Given the description of an element on the screen output the (x, y) to click on. 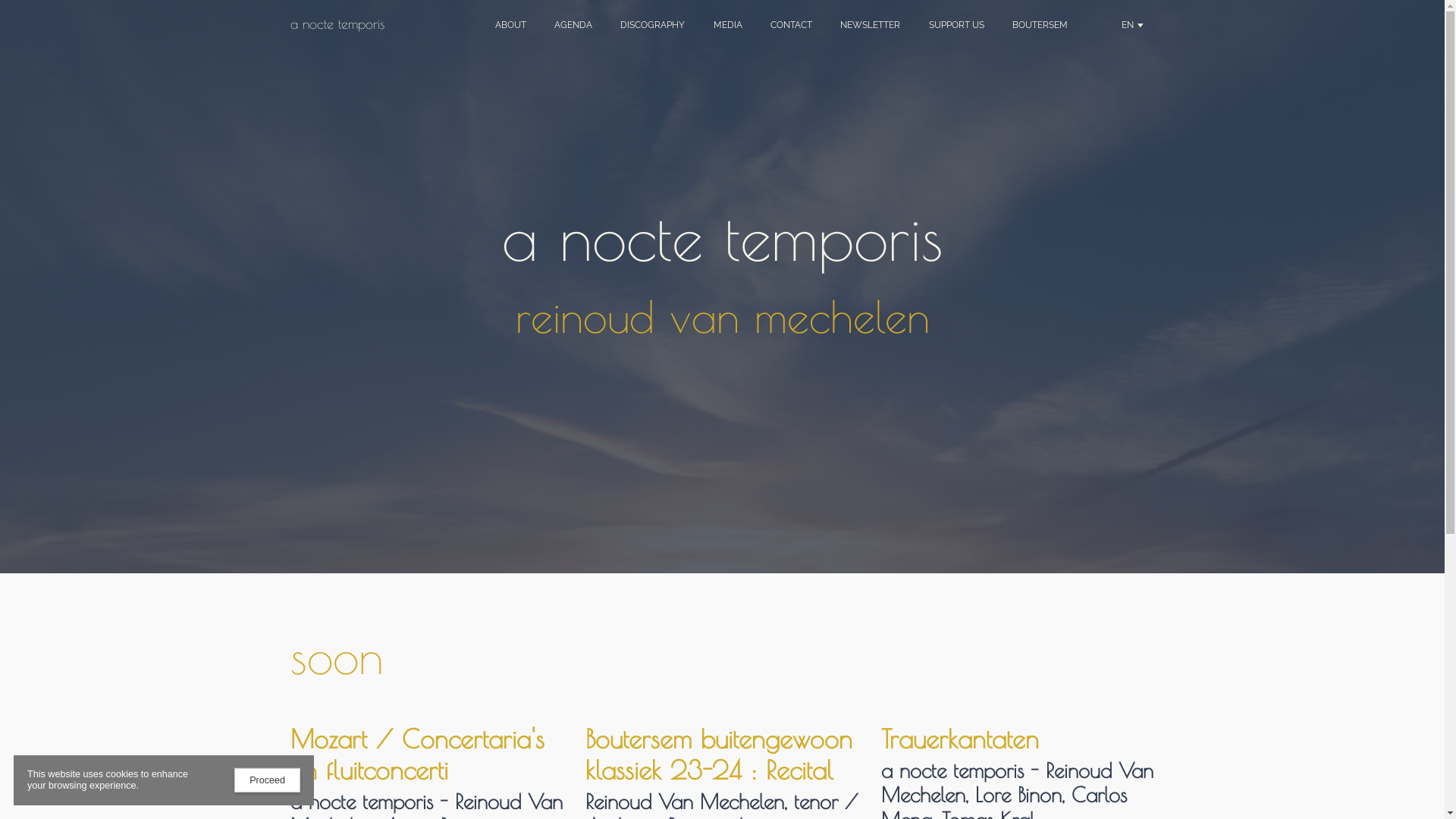
a nocte temporis Element type: text (336, 23)
BOUTERSEM Element type: text (1040, 25)
MEDIA Element type: text (727, 25)
AGENDA Element type: text (572, 25)
ABOUT Element type: text (510, 25)
CONTACT Element type: text (790, 25)
DISCOGRAPHY Element type: text (652, 25)
Mozart / Concertaria's en fluitconcerti Element type: text (416, 753)
Boutersem buitengewoon klassiek 23-24 : Recital Element type: text (718, 753)
NEWSLETTER Element type: text (870, 25)
Trauerkantaten Element type: text (959, 738)
Proceed Element type: text (267, 780)
SUPPORT US Element type: text (955, 25)
